Given the description of an element on the screen output the (x, y) to click on. 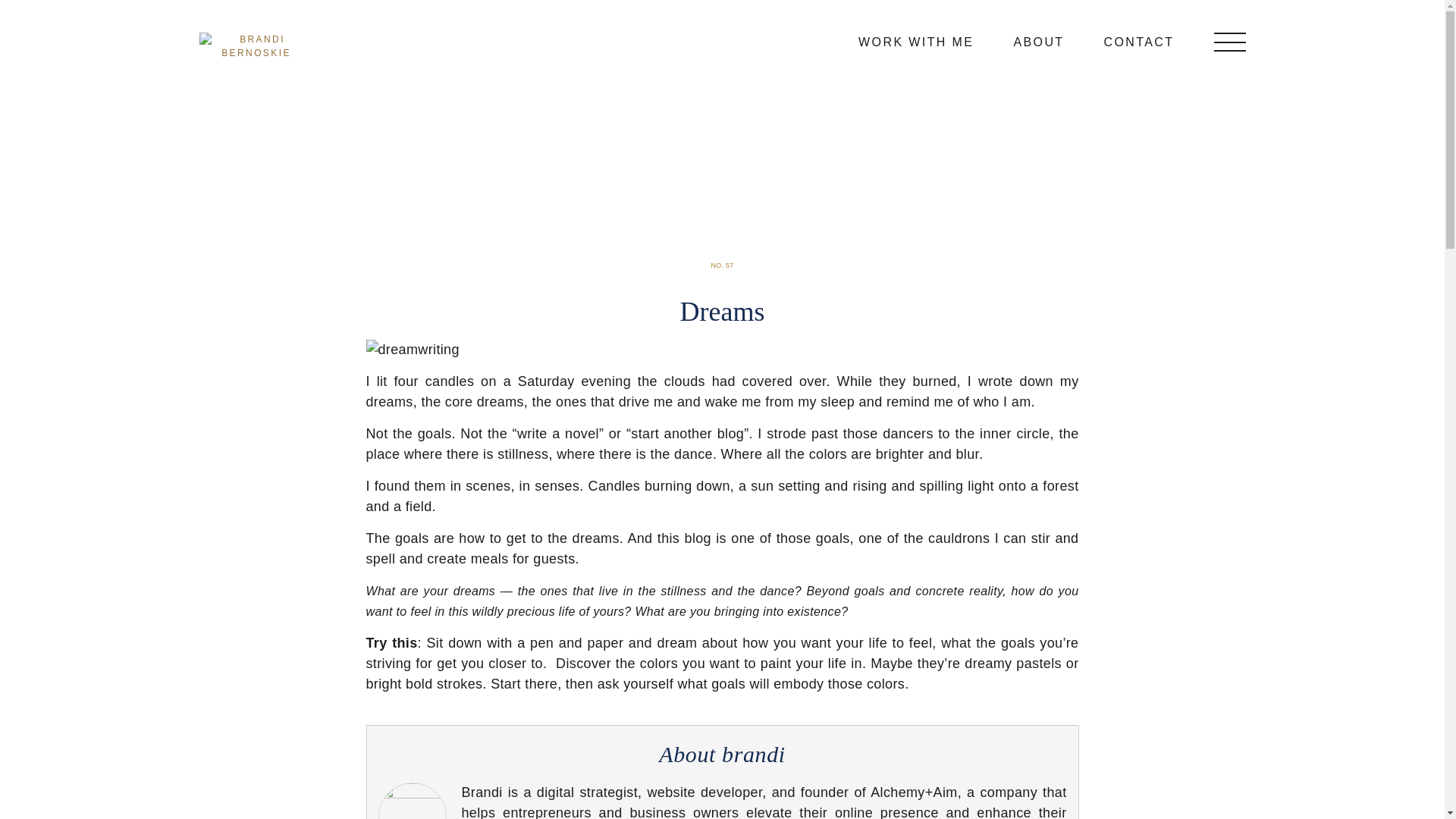
ABOUT (1038, 41)
CONTACT (1138, 41)
WORK WITH ME (916, 41)
